Given the description of an element on the screen output the (x, y) to click on. 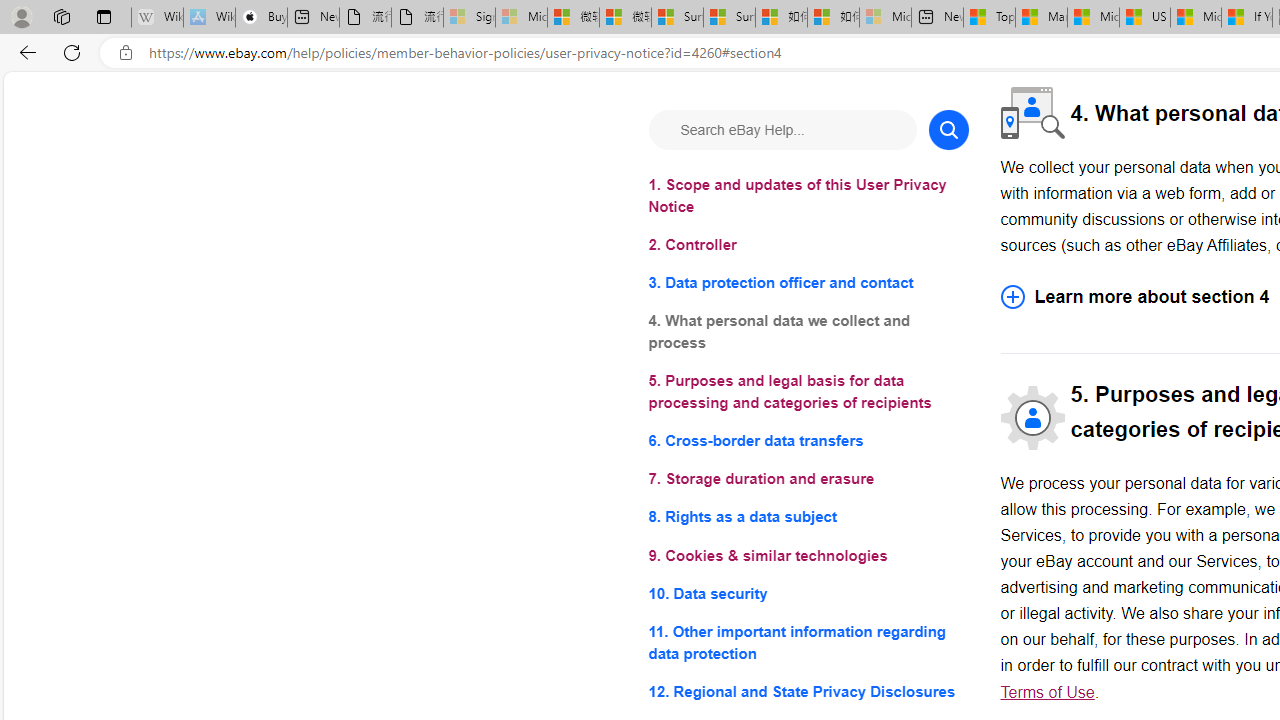
Marine life - MSN (1041, 17)
10. Data security (807, 592)
Search eBay Help... (781, 129)
6. Cross-border data transfers (807, 440)
3. Data protection officer and contact (807, 283)
10. Data security (807, 592)
Microsoft account | Account Checkup - Sleeping (885, 17)
3. Data protection officer and contact (807, 283)
11. Other important information regarding data protection (807, 642)
9. Cookies & similar technologies (807, 555)
7. Storage duration and erasure (807, 479)
